Given the description of an element on the screen output the (x, y) to click on. 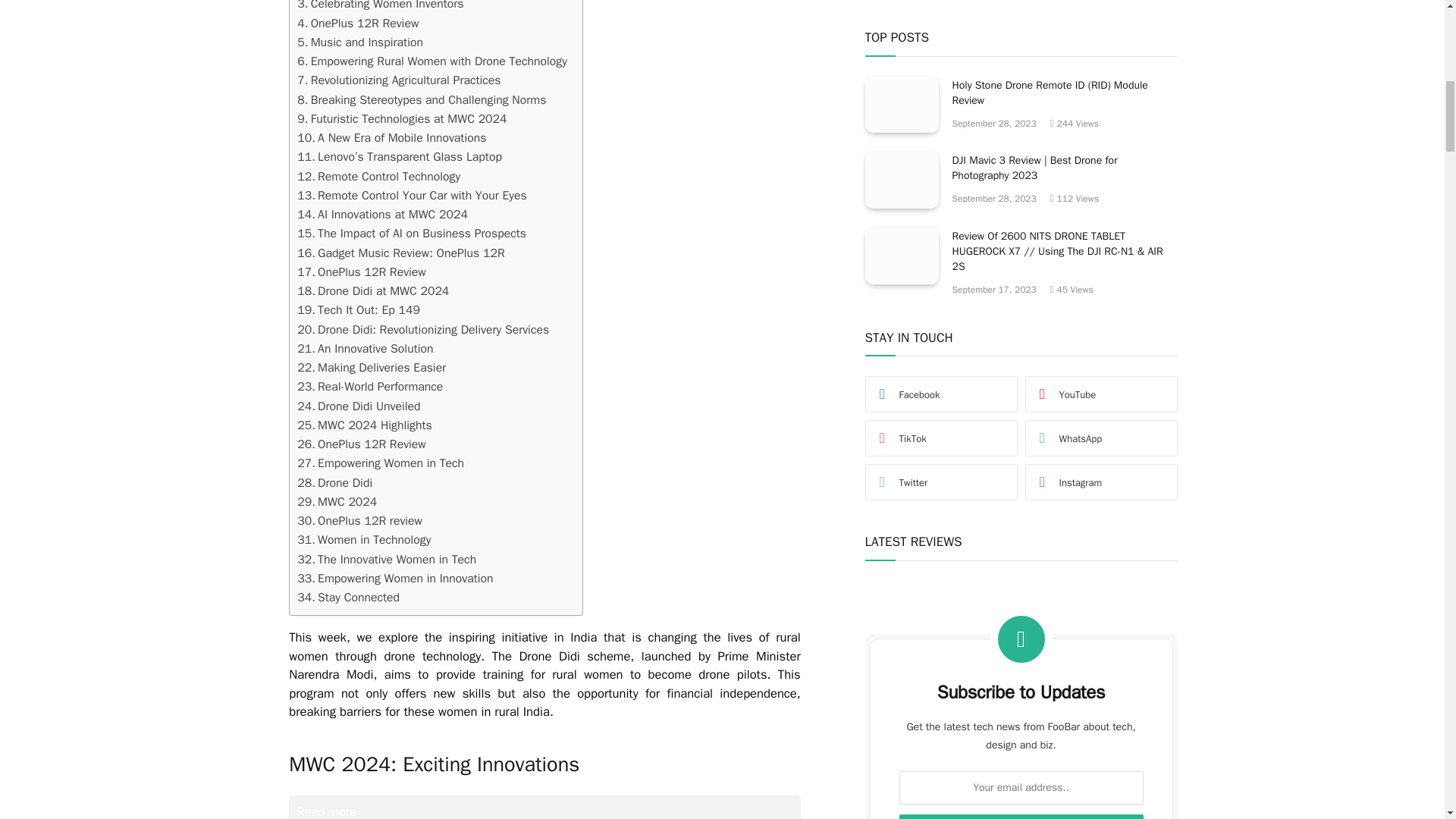
on (915, 298)
Subscribe (1020, 260)
